Given the description of an element on the screen output the (x, y) to click on. 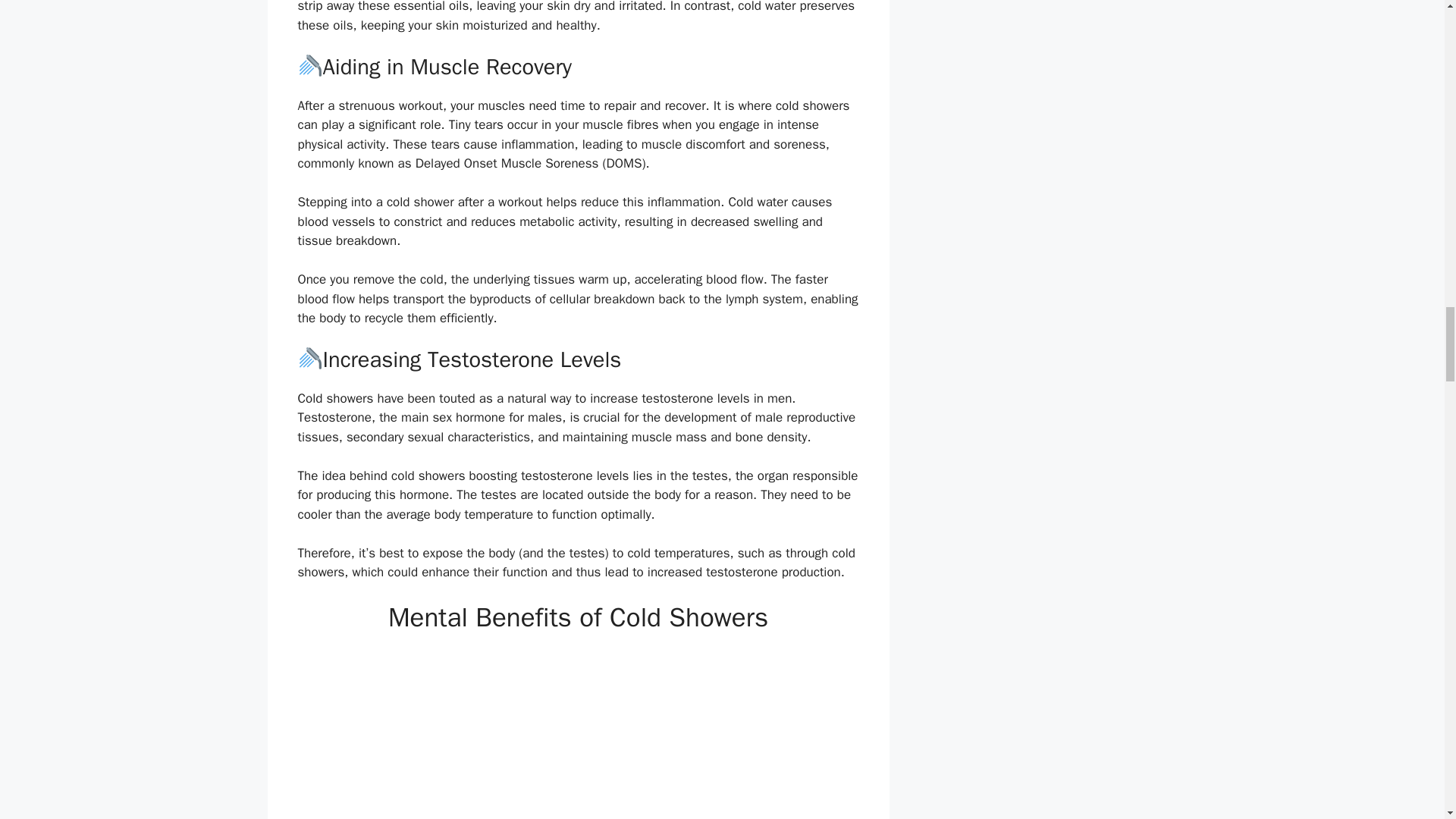
Benefits of Cold Showers - Comfort Zone Killer (578, 733)
